Given the description of an element on the screen output the (x, y) to click on. 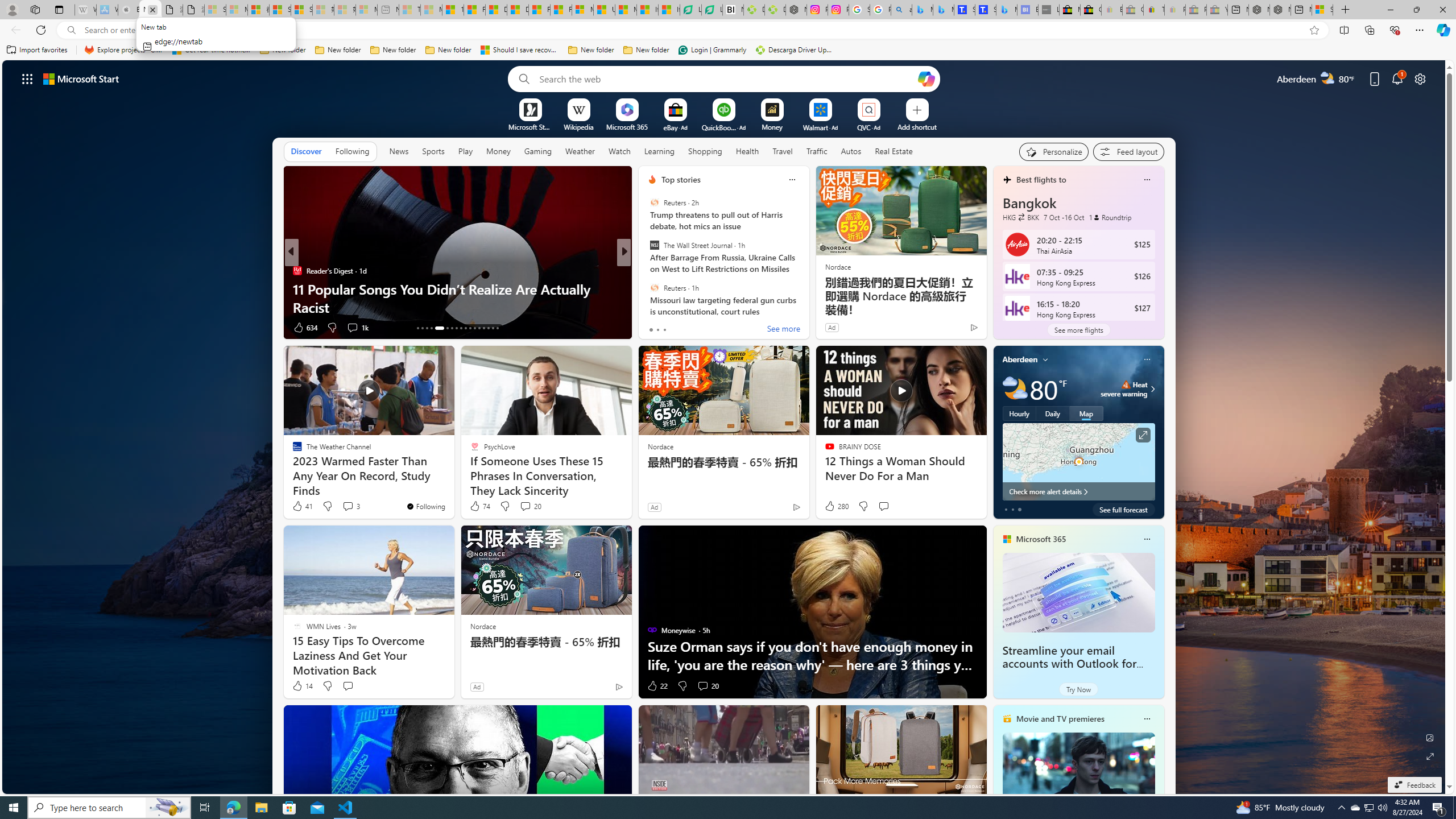
View comments 86 Comment (707, 327)
14 Like (301, 685)
Avoid These 20 Phrases for a Successful Job Interview (807, 298)
AutomationID: tab-20 (456, 328)
Kinda Frugal (647, 288)
